Given the description of an element on the screen output the (x, y) to click on. 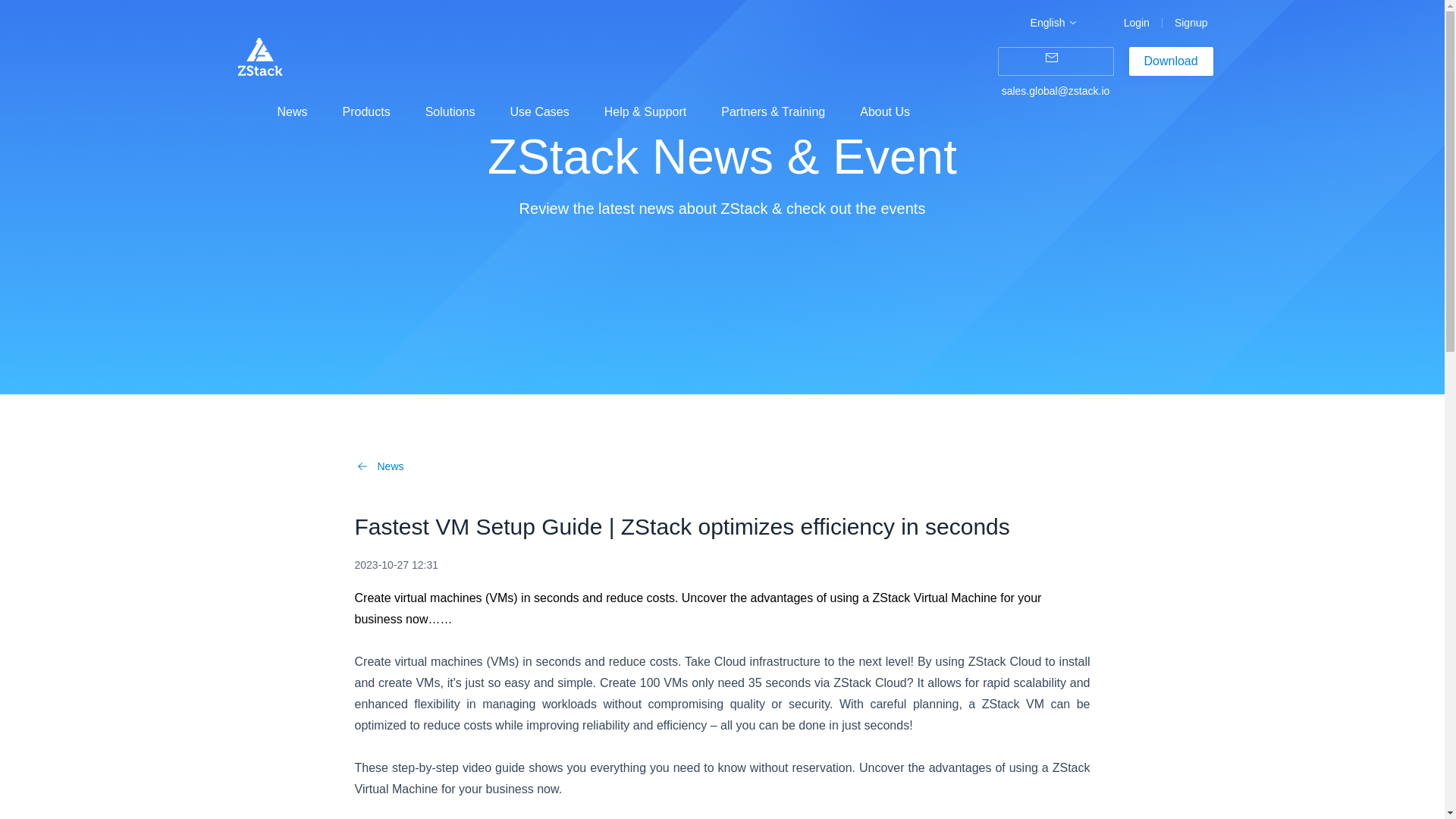
About Us (885, 111)
News (292, 111)
Solutions (450, 111)
Products (366, 111)
Login (1137, 22)
Signup (1191, 22)
Use Cases (539, 111)
